Given the description of an element on the screen output the (x, y) to click on. 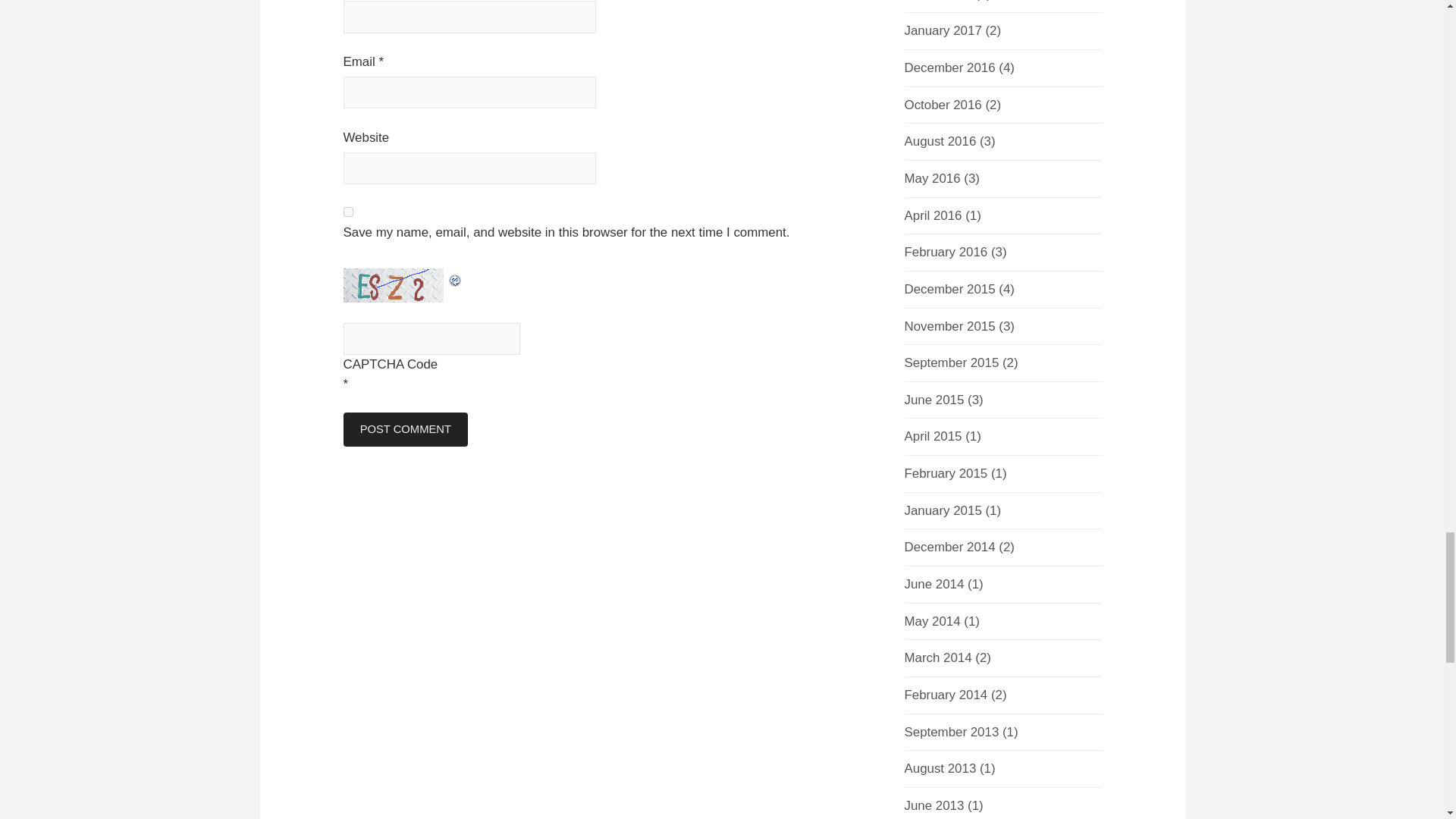
Post Comment (404, 428)
Post Comment (404, 428)
Refresh (455, 278)
yes (347, 212)
CAPTCHA (394, 285)
